Given the description of an element on the screen output the (x, y) to click on. 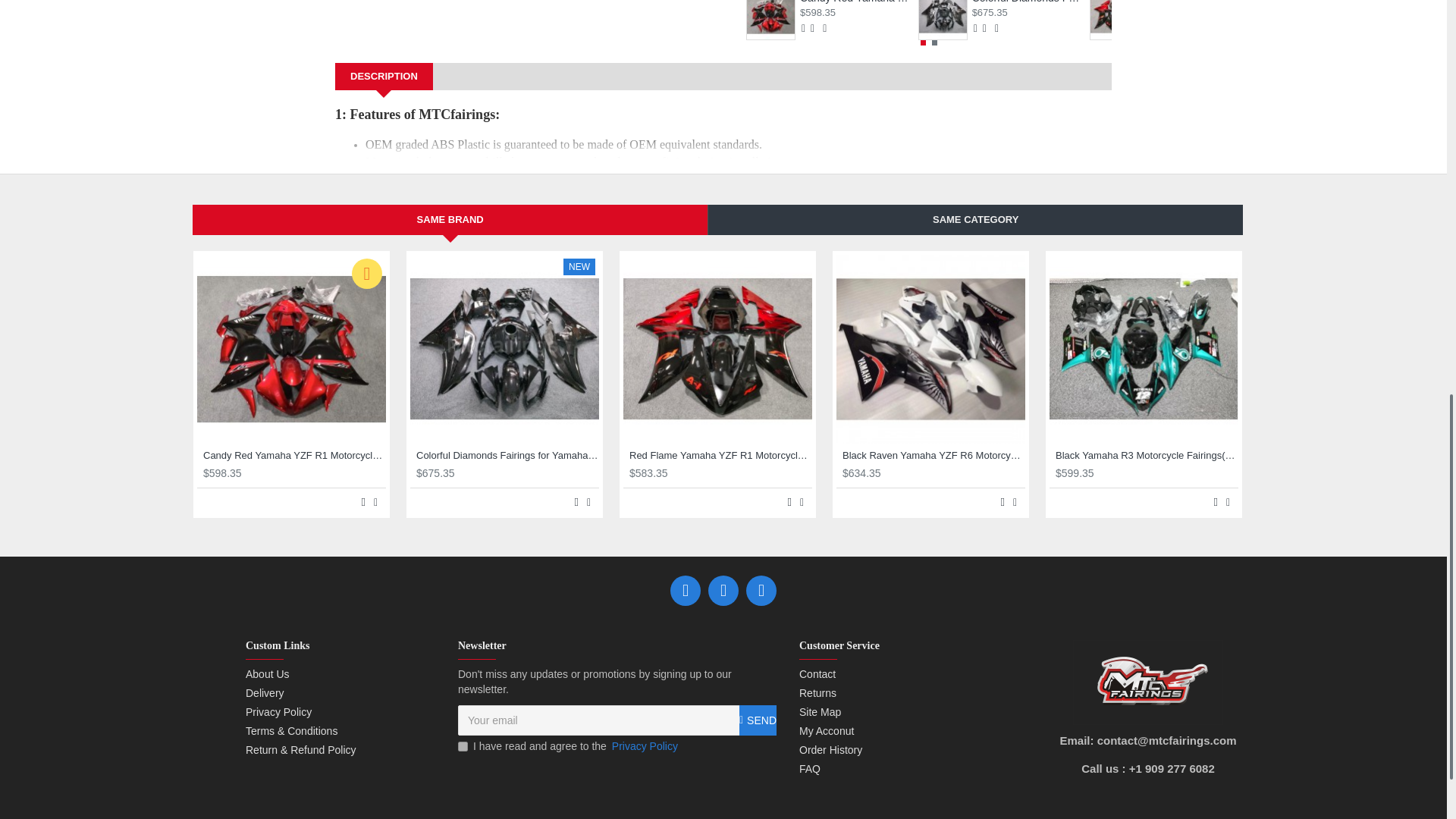
1 (462, 746)
